Given the description of an element on the screen output the (x, y) to click on. 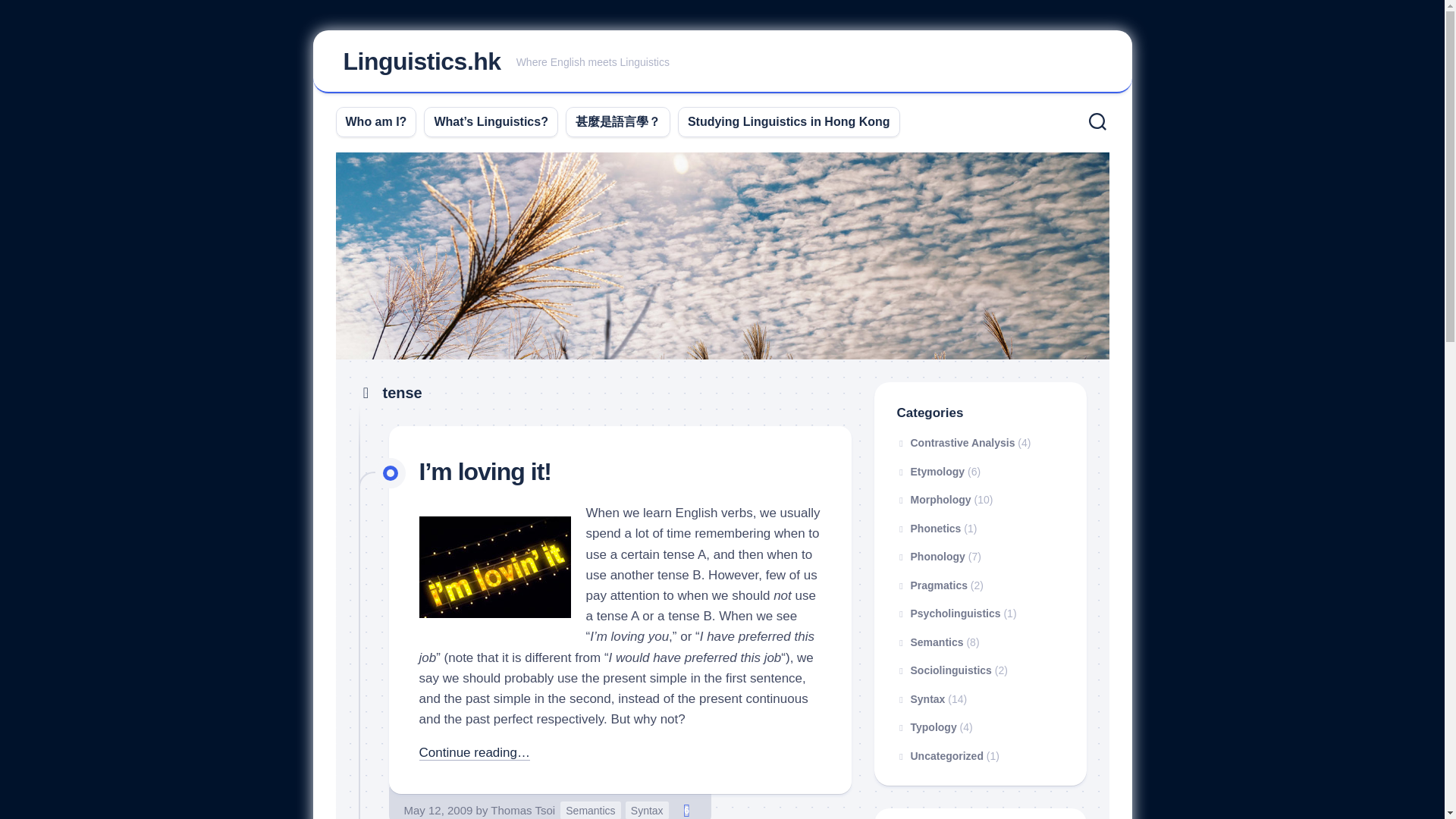
Studying Linguistics in Hong Kong (788, 121)
Thomas Tsoi (522, 809)
Morphology (933, 499)
Linguistics.hk (421, 61)
I'm lovin' it (722, 62)
Etymology (494, 567)
Phonology (929, 471)
Contrastive Analysis (929, 556)
6 (955, 442)
Posts by Thomas Tsoi (686, 810)
Who am I? (522, 809)
Syntax (376, 121)
Semantics (647, 810)
Pragmatics (590, 810)
